Given the description of an element on the screen output the (x, y) to click on. 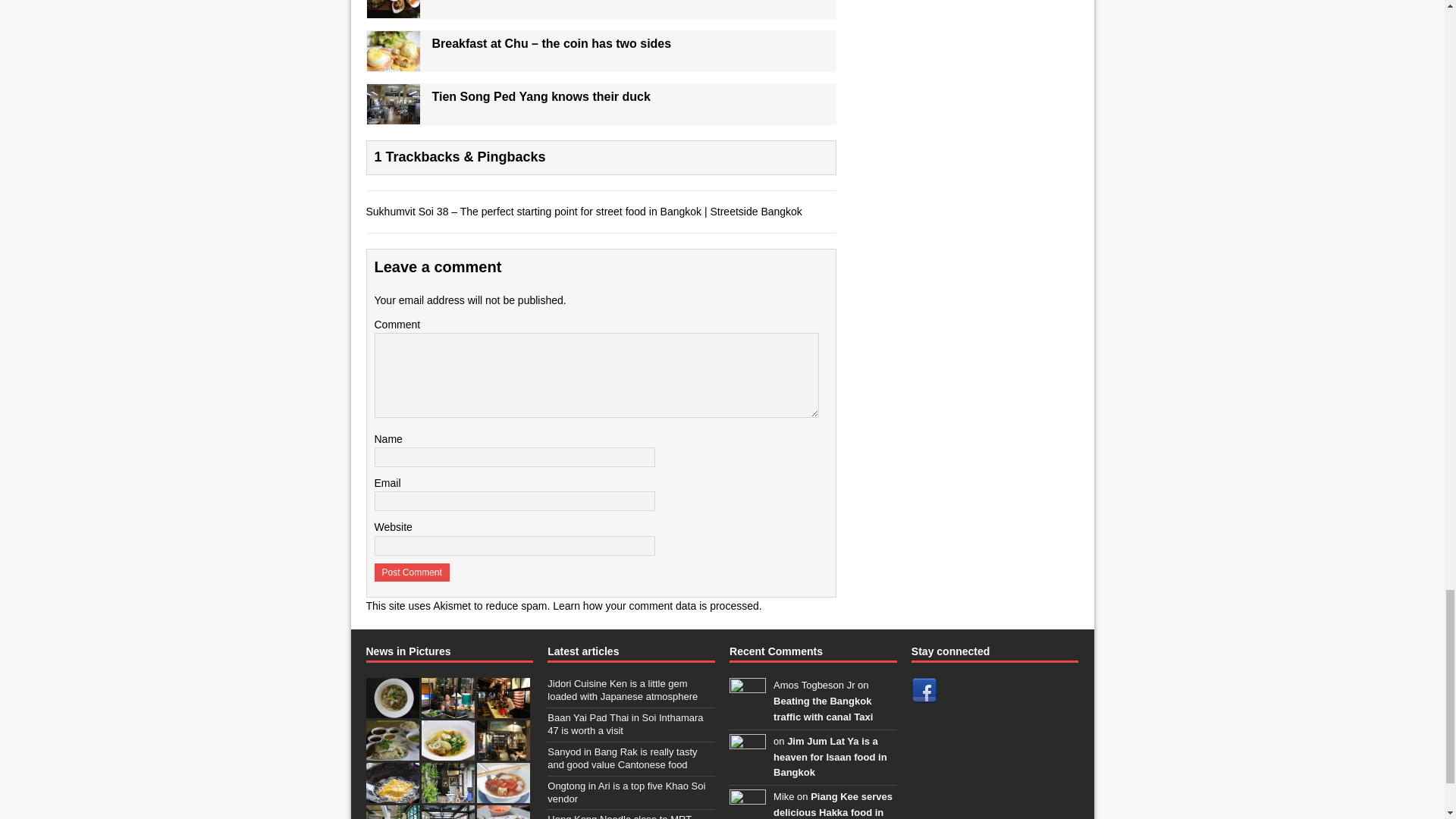
Post Comment (411, 572)
